Given the description of an element on the screen output the (x, y) to click on. 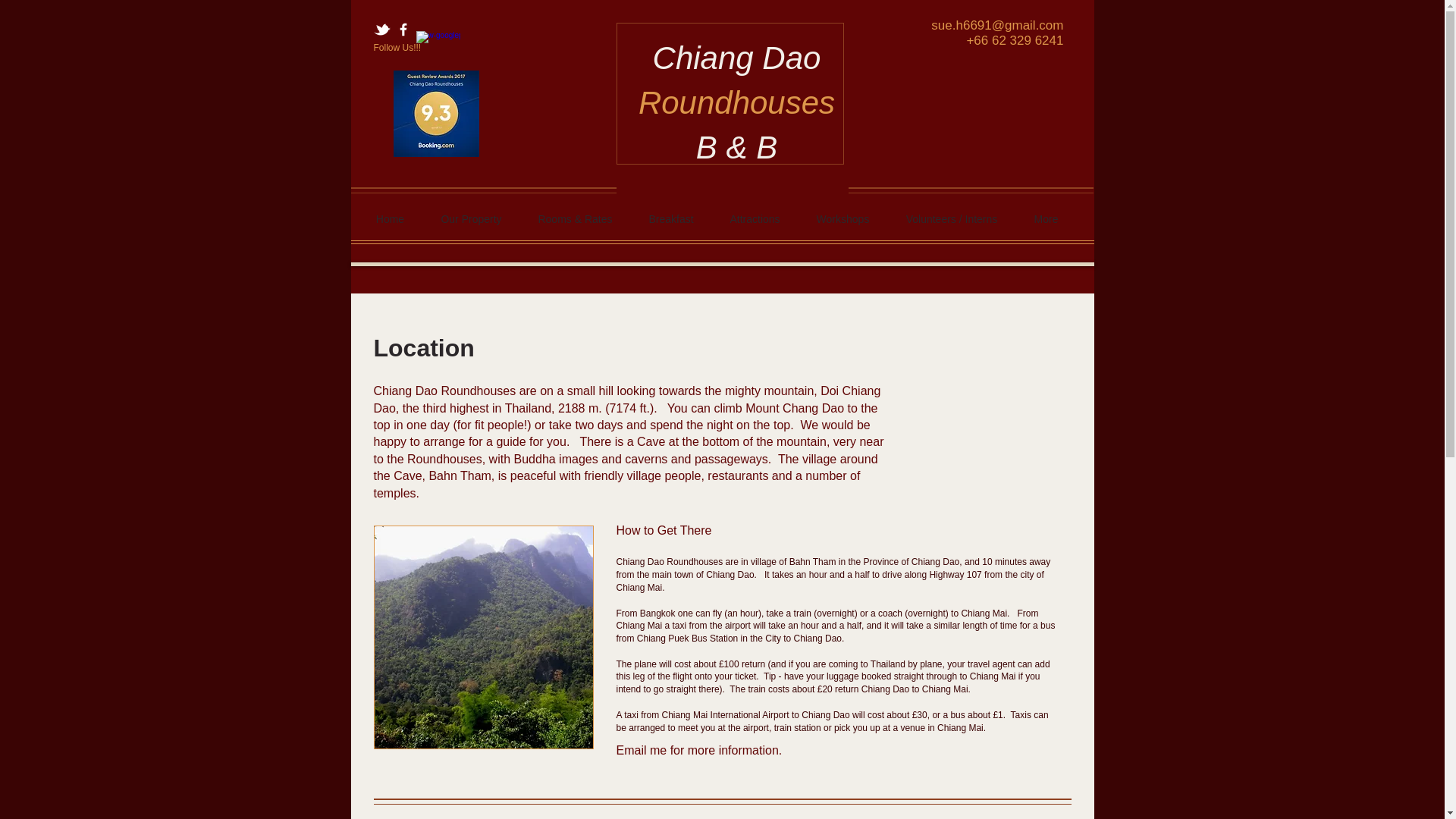
Breakfast (670, 219)
Attractions (754, 219)
Home (390, 219)
Our Property (471, 219)
Workshops (841, 219)
